Given the description of an element on the screen output the (x, y) to click on. 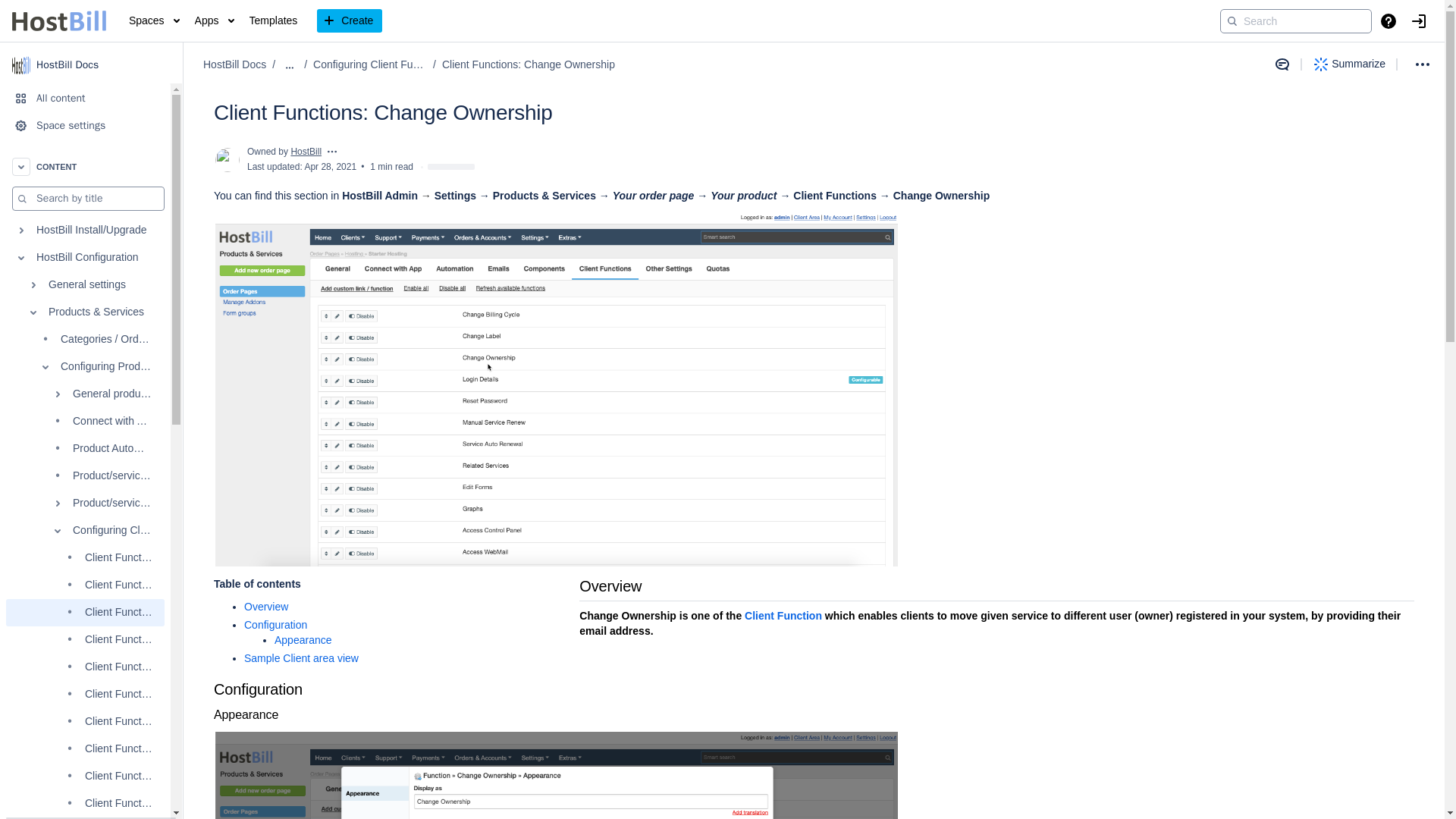
HostBill Configuration (84, 257)
General product settings (84, 393)
Configuring Products (84, 366)
Space settings (84, 125)
Apps (214, 21)
General settings (84, 284)
All content (84, 98)
Create (349, 21)
Configuring Client Functions (84, 530)
Templates (273, 21)
